Given the description of an element on the screen output the (x, y) to click on. 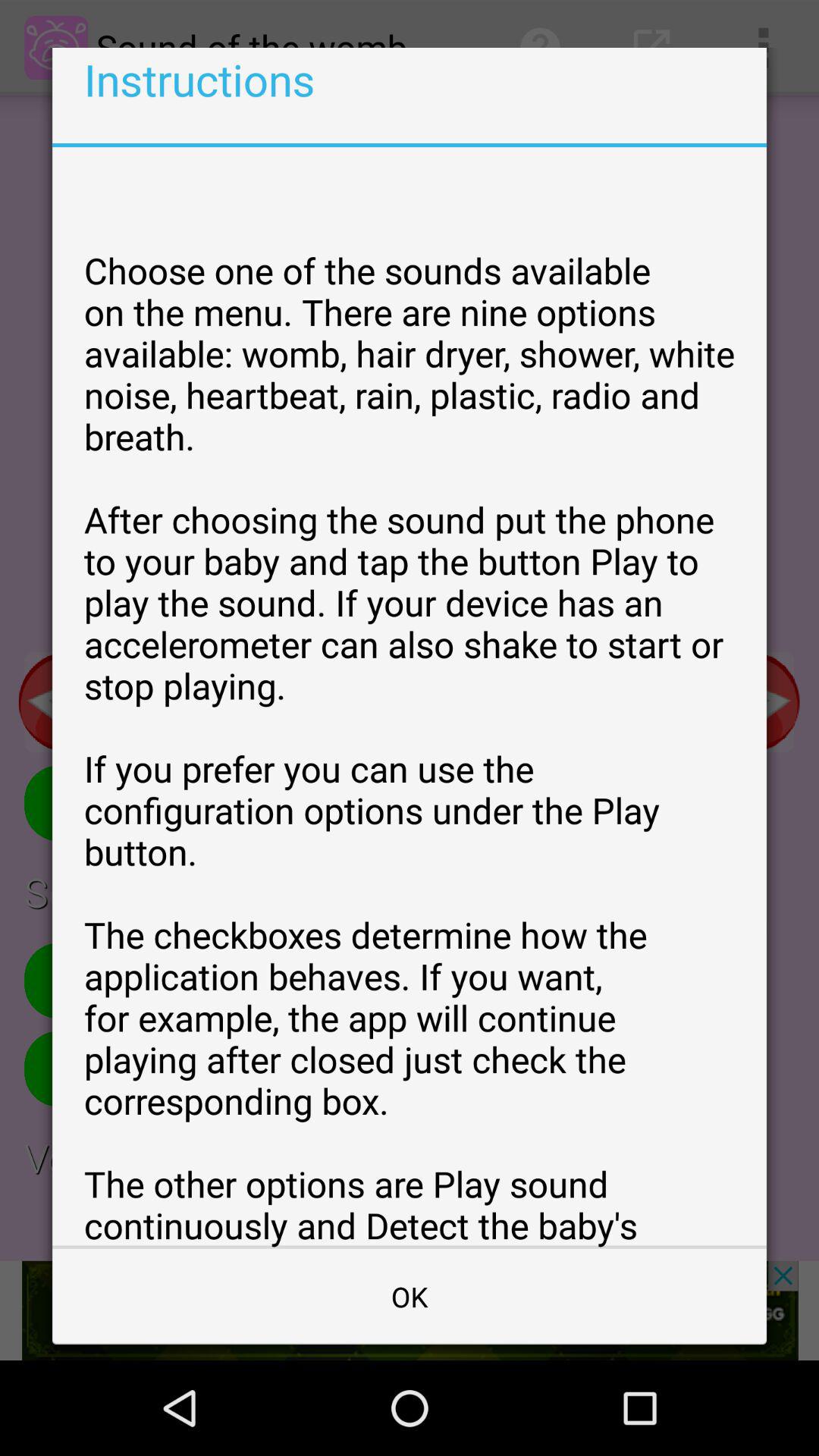
choose button at the bottom (409, 1296)
